Given the description of an element on the screen output the (x, y) to click on. 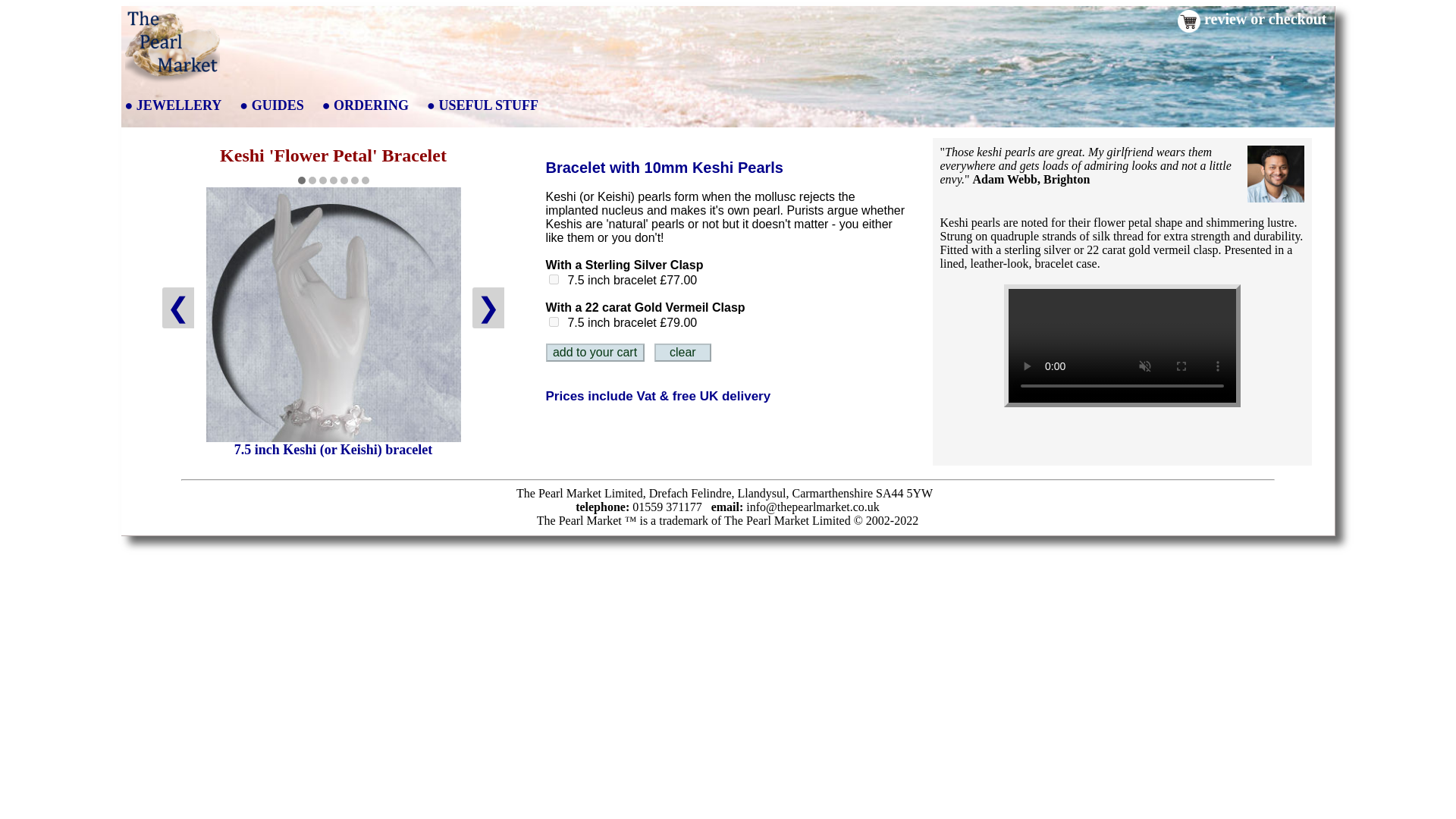
you can delete items and change quantities in the cart (595, 352)
add to your cart (595, 352)
review or checkout (1265, 18)
clear (682, 352)
keshi pearl bracelet (333, 314)
clear all boxes (682, 352)
